Given the description of an element on the screen output the (x, y) to click on. 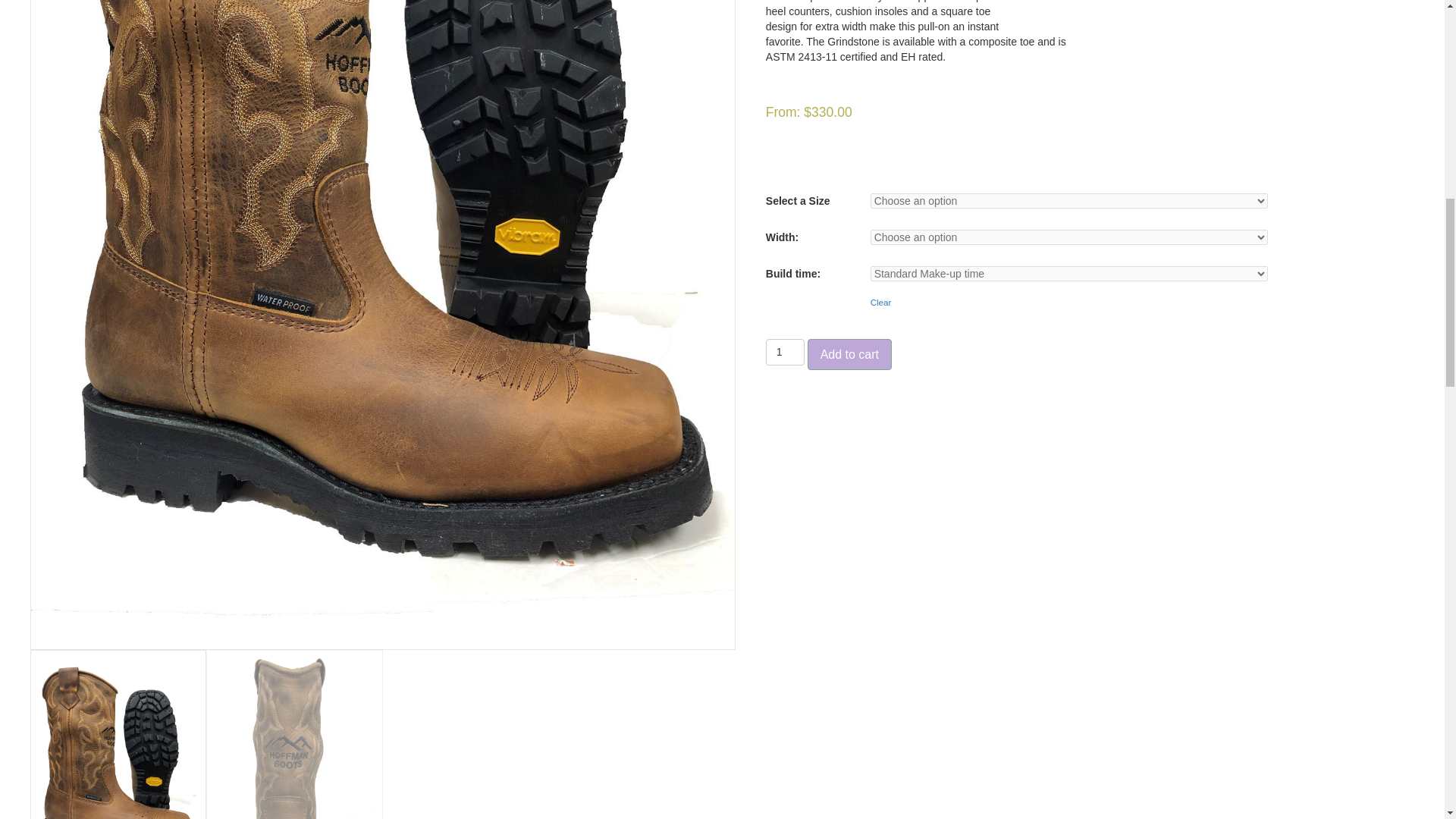
1 (785, 352)
